Given the description of an element on the screen output the (x, y) to click on. 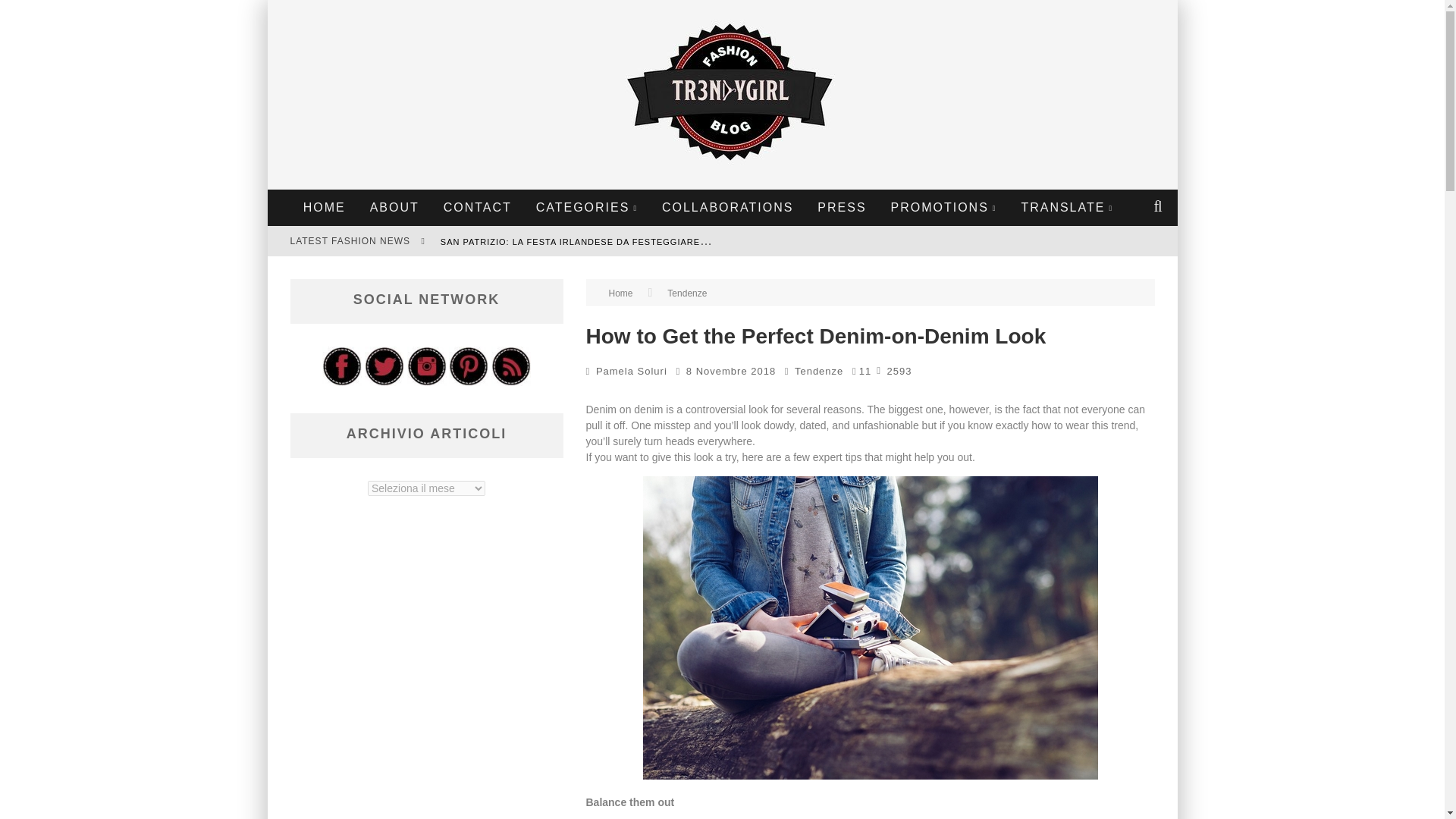
categorie tr3ndygirl (586, 207)
collaborazioni blog (727, 207)
contatto tr3ndygirl (477, 207)
